Given the description of an element on the screen output the (x, y) to click on. 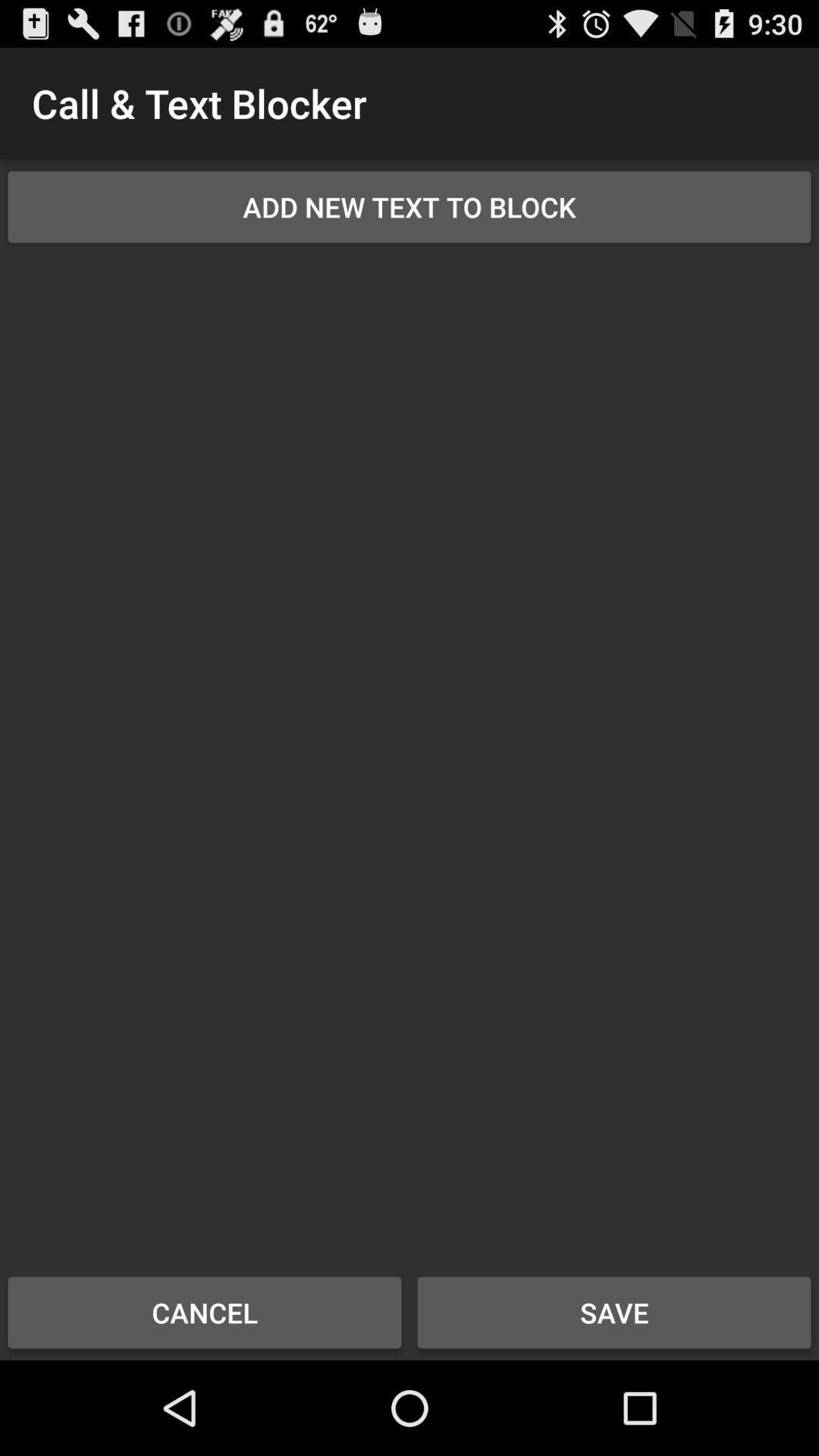
flip until the cancel item (204, 1312)
